Given the description of an element on the screen output the (x, y) to click on. 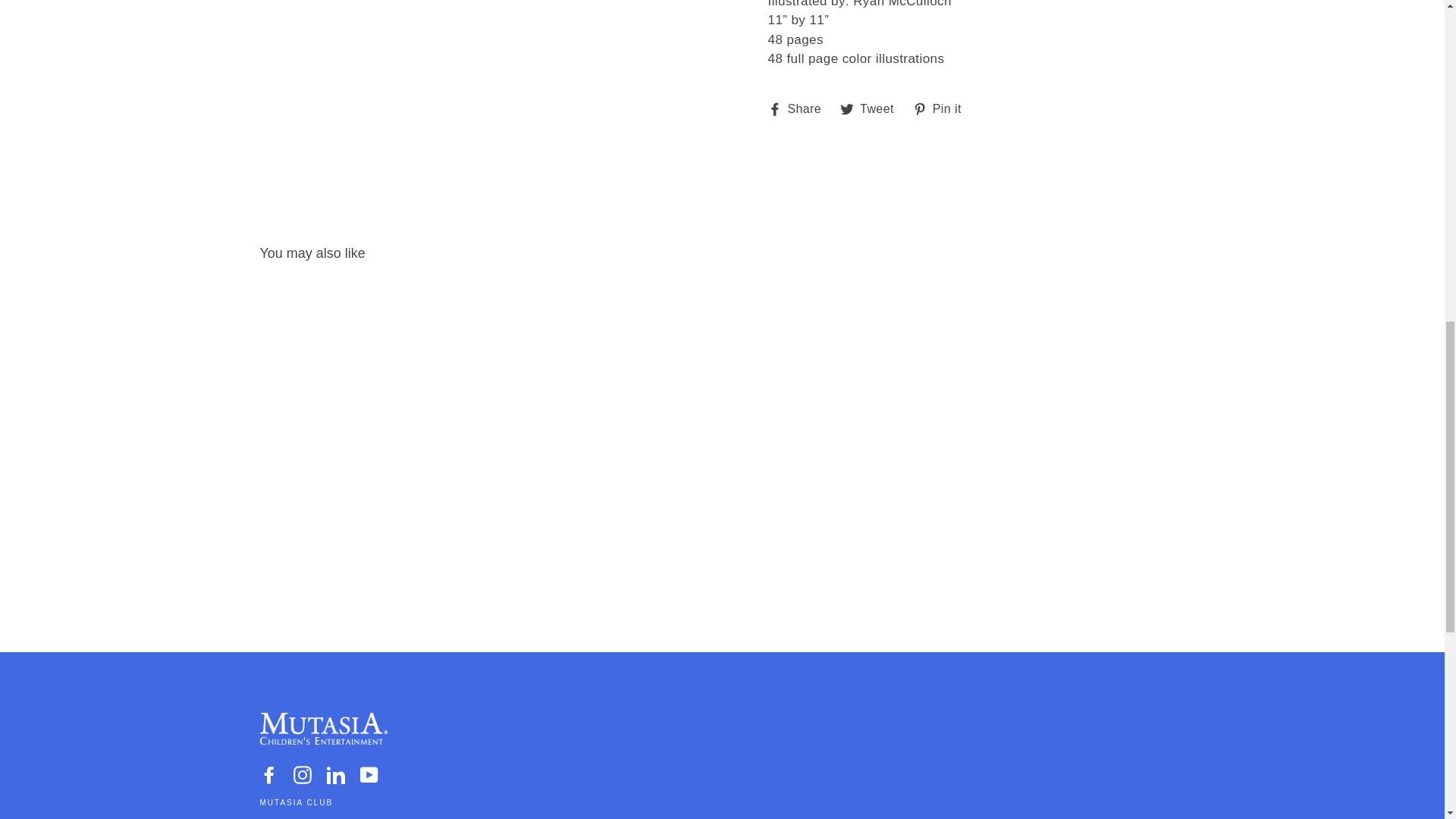
mutasianentertainment on LinkedIn (335, 773)
Tweet on Twitter (872, 109)
mutasianentertainment on YouTube (368, 773)
mutasianentertainment on Instagram (302, 773)
Pin on Pinterest (942, 109)
mutasianentertainment on Facebook (268, 773)
Share on Facebook (799, 109)
